Given the description of an element on the screen output the (x, y) to click on. 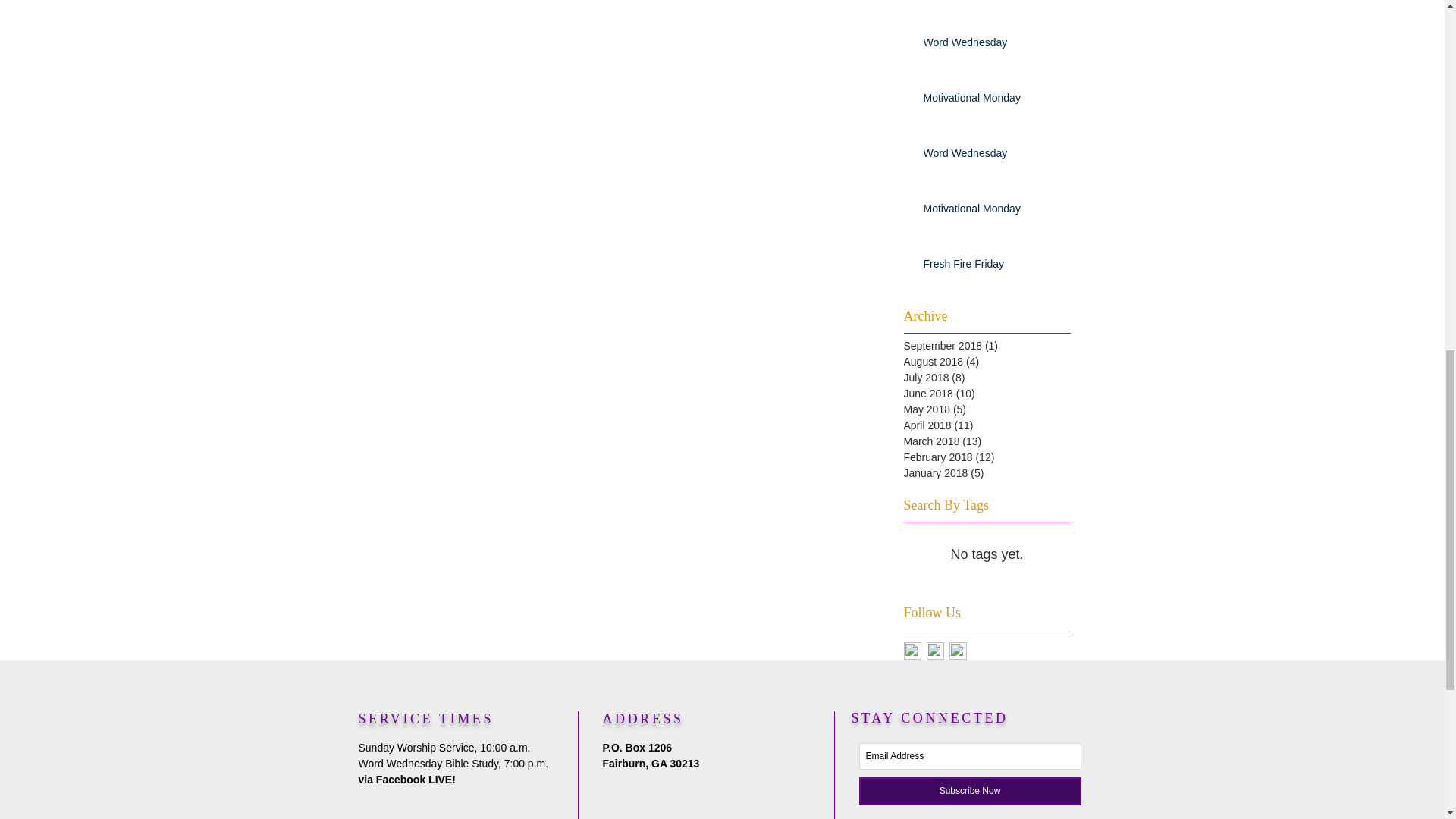
Motivational Monday (992, 101)
Word Wednesday (992, 156)
Fresh Fire Friday (992, 267)
Motivational Monday (992, 211)
Word Wednesday (992, 0)
Word Wednesday (992, 46)
